Given the description of an element on the screen output the (x, y) to click on. 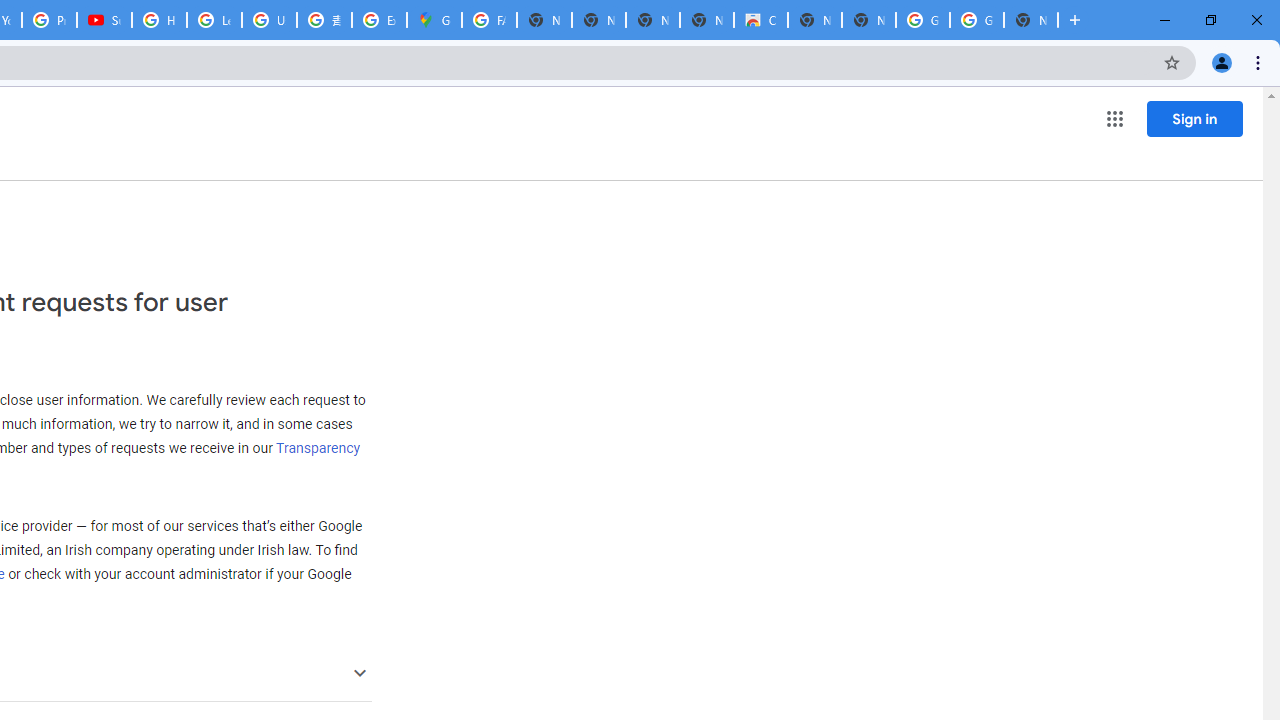
Google Maps (434, 20)
Google Images (976, 20)
